Given the description of an element on the screen output the (x, y) to click on. 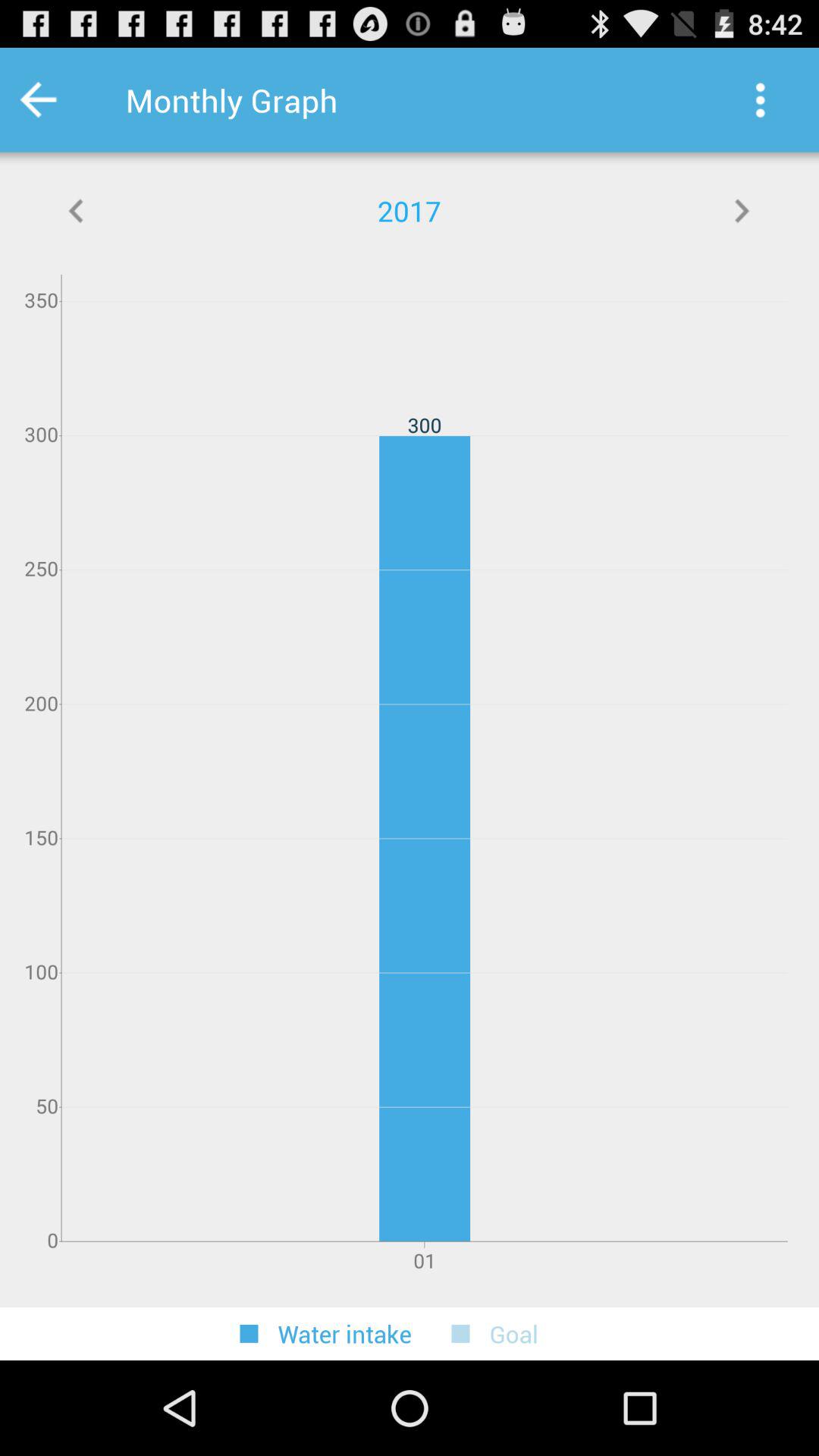
select icon to the right of 2017 (742, 210)
